Given the description of an element on the screen output the (x, y) to click on. 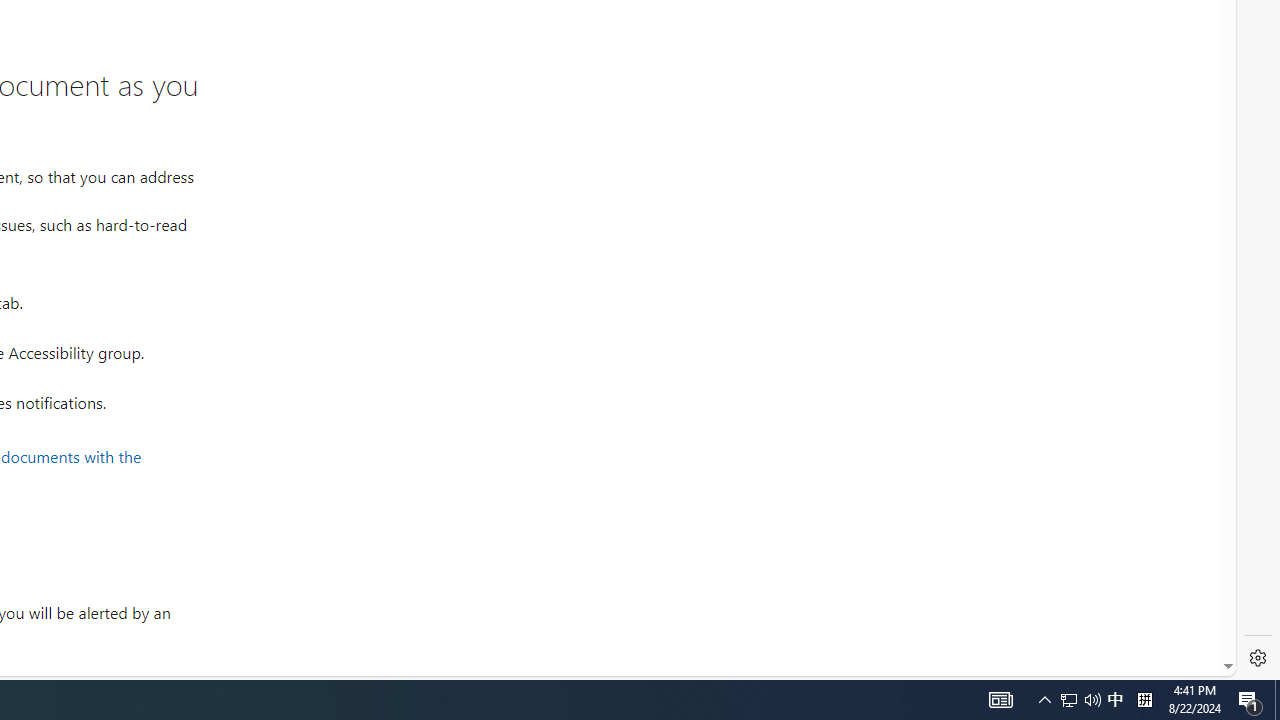
Settings (1258, 658)
